Given the description of an element on the screen output the (x, y) to click on. 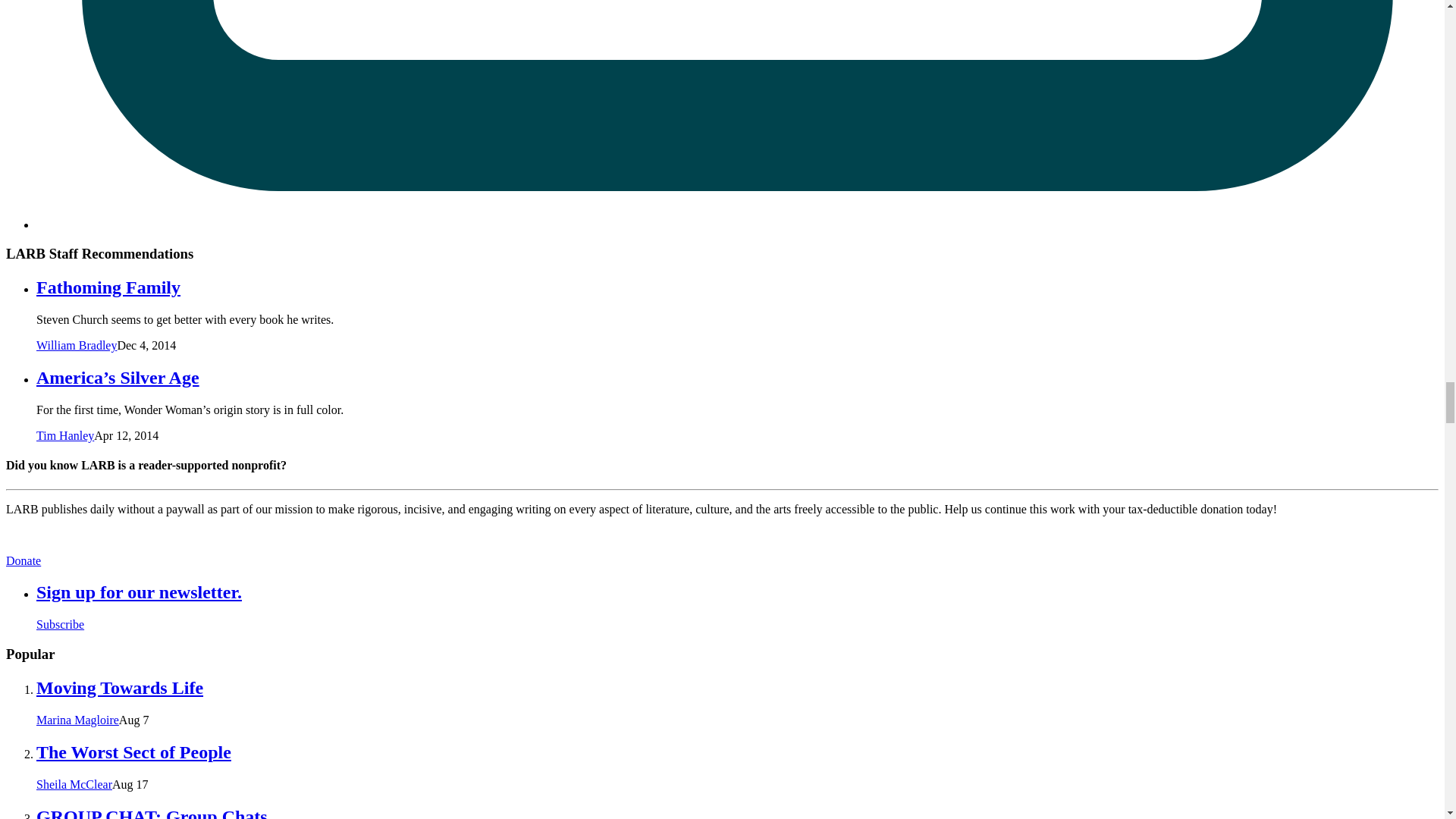
Moving Towards Life (119, 687)
Sign up for our newsletter. (138, 591)
Marina Magloire (77, 719)
Fathoming Family (108, 287)
Tim Hanley (65, 435)
William Bradley (76, 345)
